Given the description of an element on the screen output the (x, y) to click on. 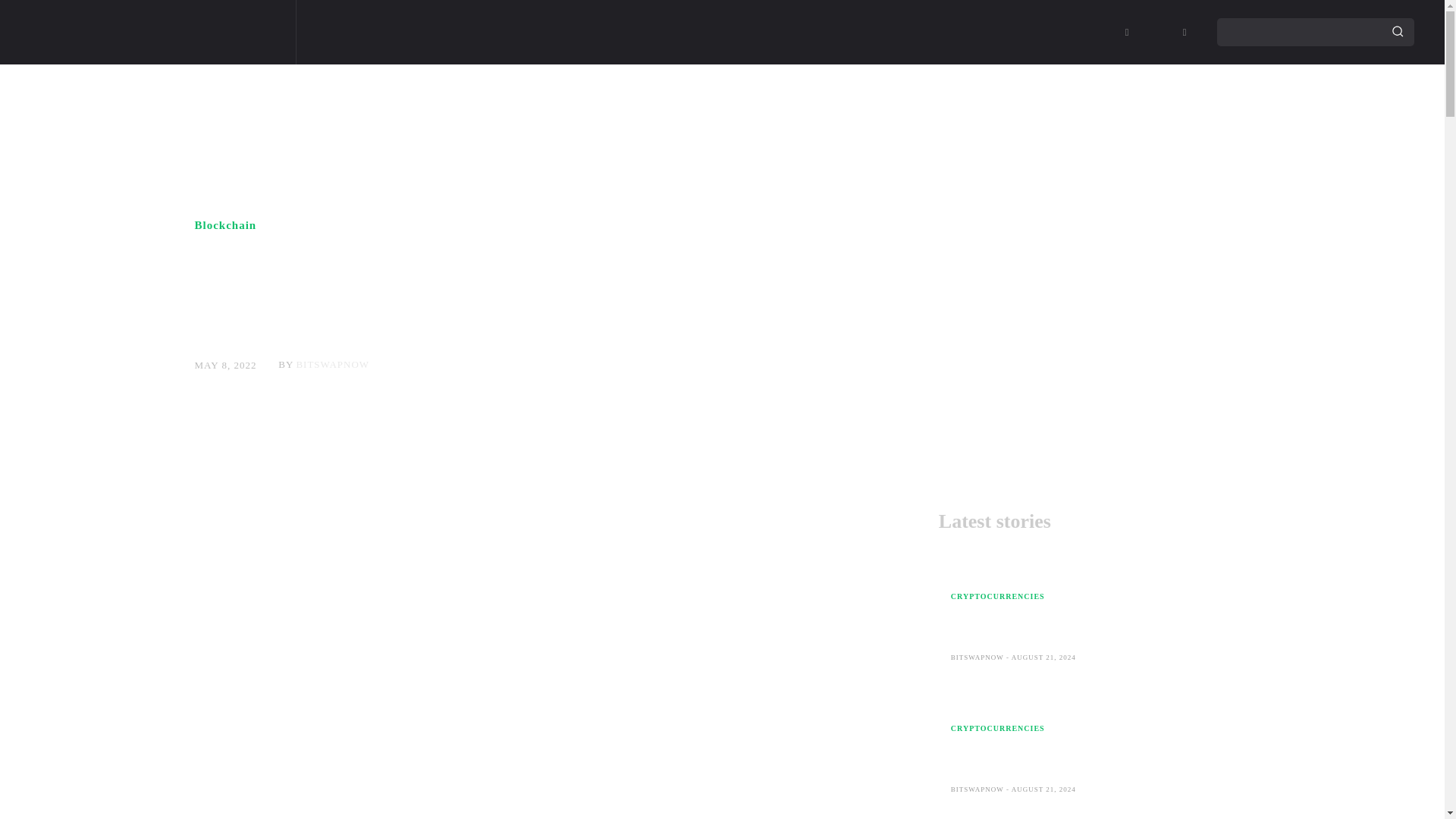
Instagram (1126, 32)
BitSwapNow (143, 32)
TikTok (1155, 32)
